Given the description of an element on the screen output the (x, y) to click on. 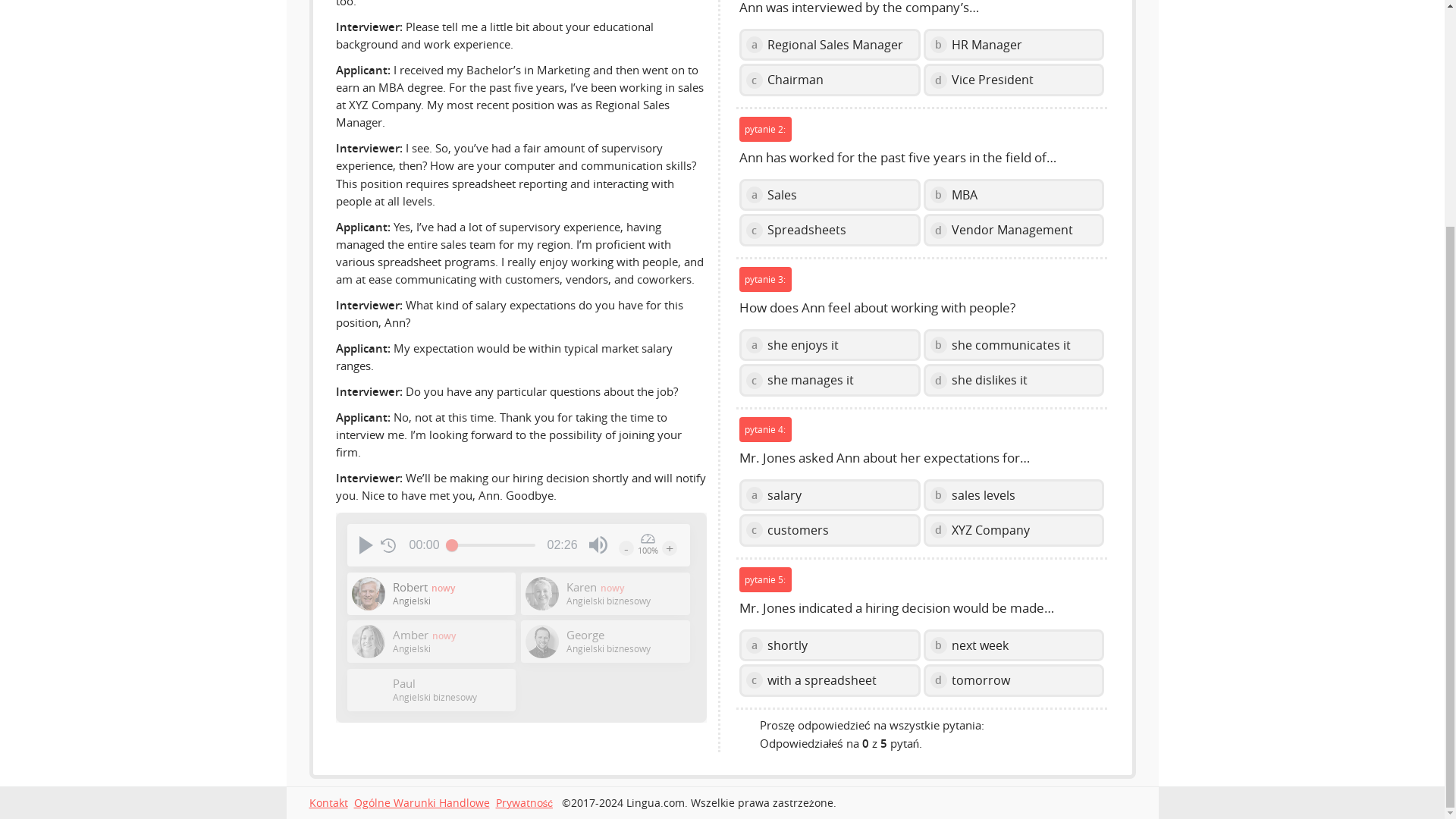
Open Volume Controls (598, 545)
Kontakt (327, 802)
